Given the description of an element on the screen output the (x, y) to click on. 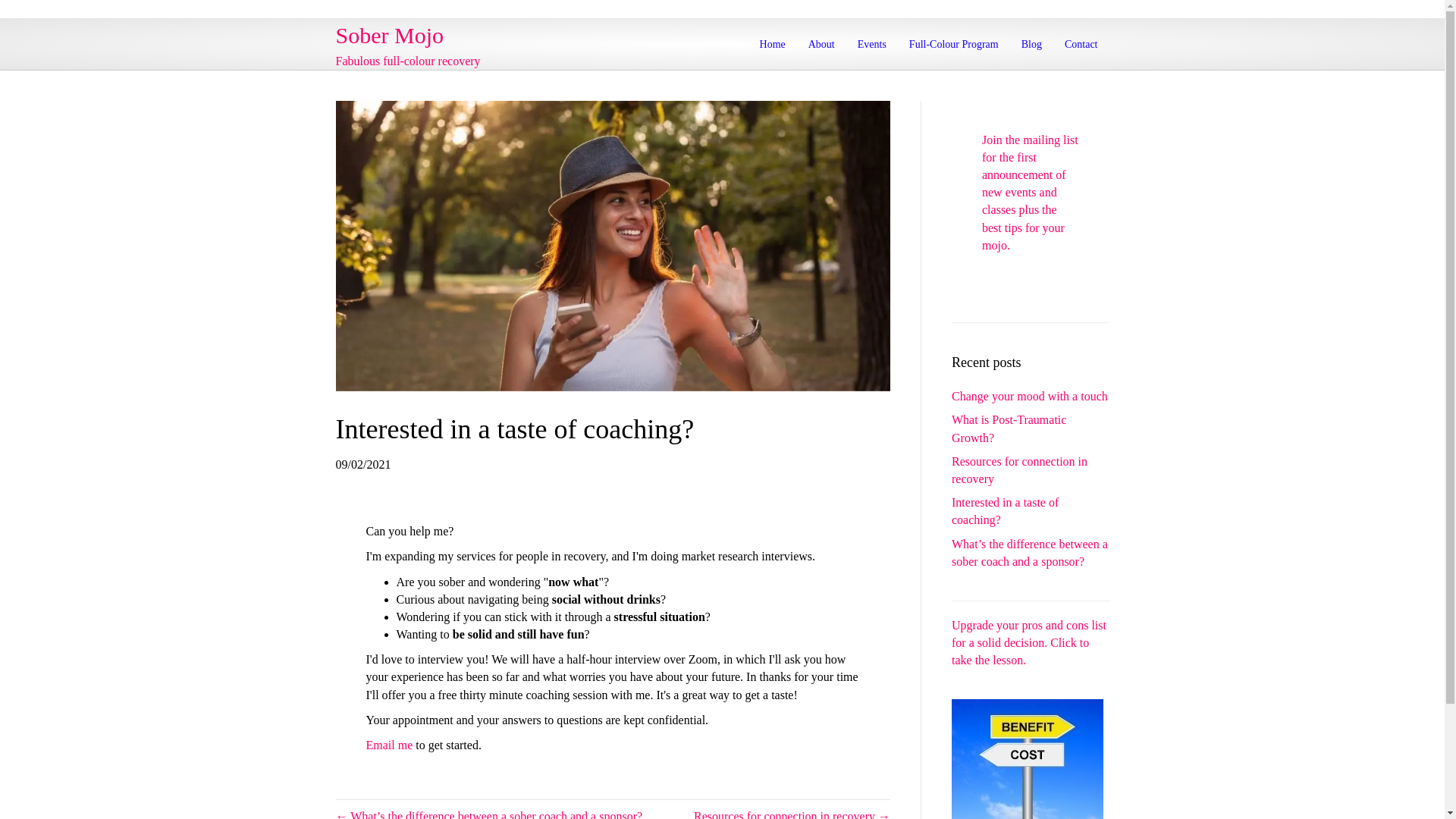
Full-Colour Program (954, 44)
Blog (1031, 44)
Email me (388, 744)
Resources for connection in recovery (1019, 470)
What is Post-Traumatic Growth? (1008, 428)
Interested in a taste of coaching? (1005, 511)
Home (772, 44)
Sober Mojo (457, 35)
Change your mood with a touch (1030, 395)
Events (871, 44)
About (820, 44)
Contact (1080, 44)
